Given the description of an element on the screen output the (x, y) to click on. 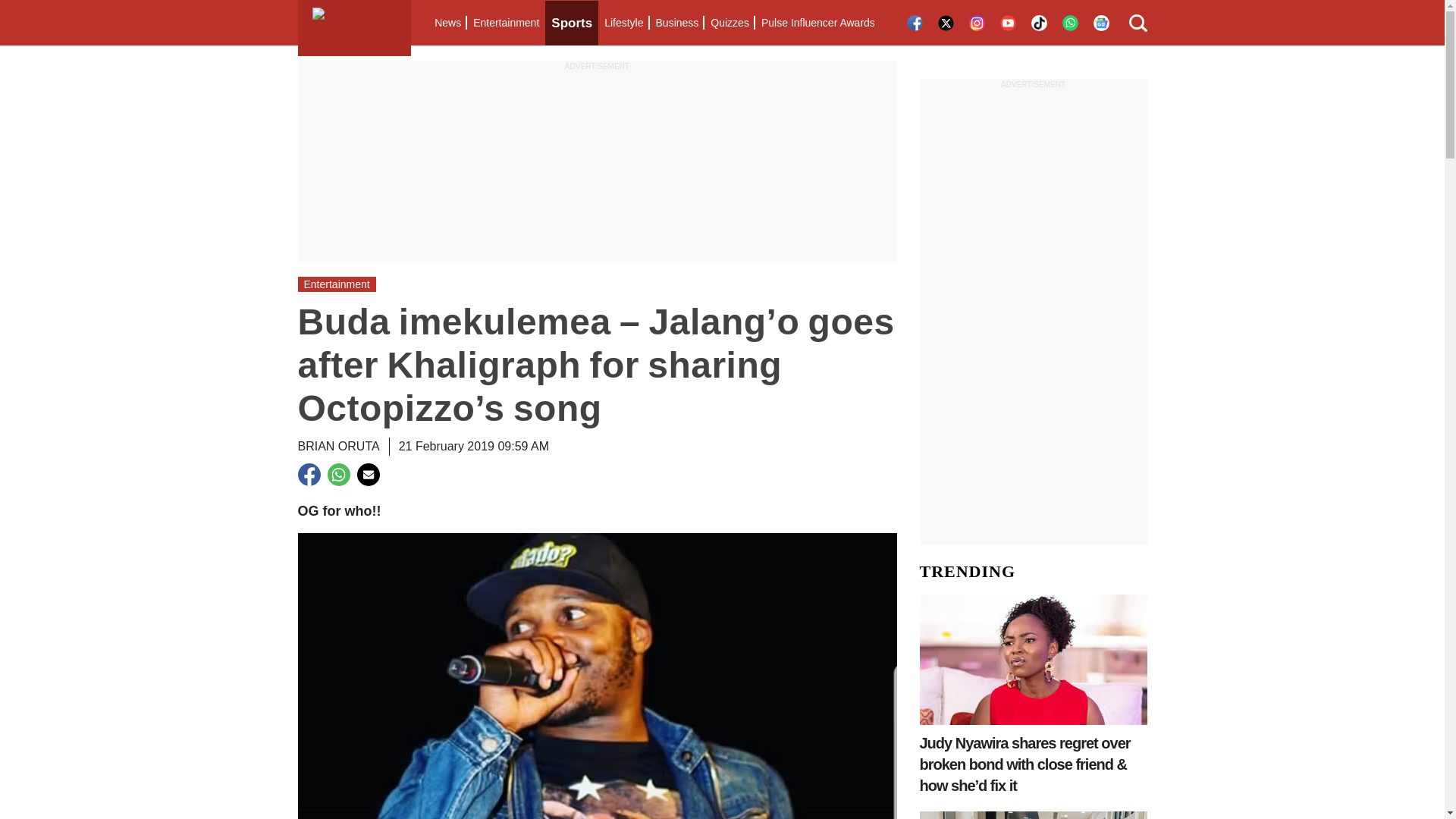
Sports (571, 22)
Entertainment (505, 22)
Pulse Influencer Awards (817, 22)
Quizzes (729, 22)
Lifestyle (623, 22)
Business (676, 22)
